Given the description of an element on the screen output the (x, y) to click on. 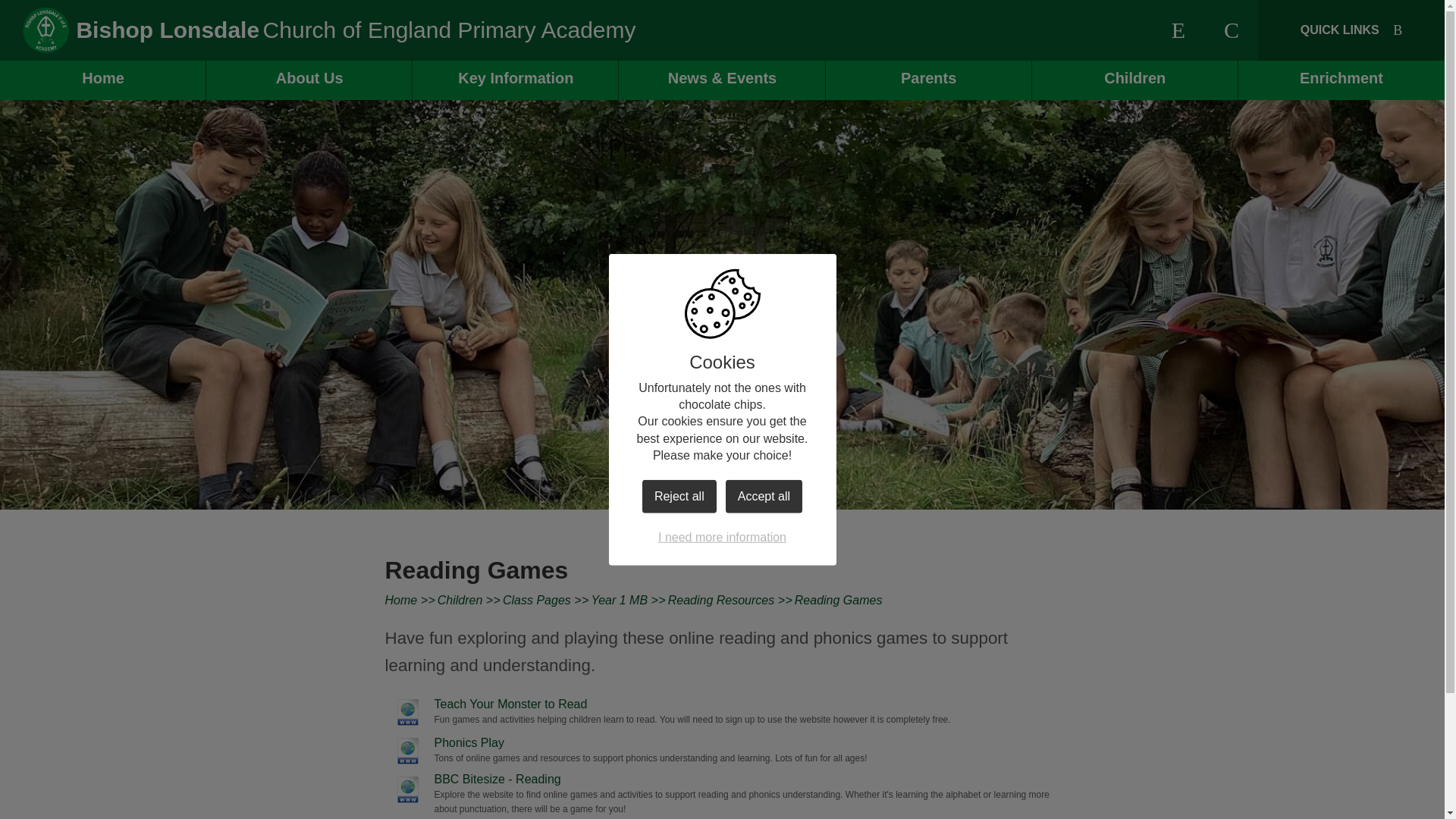
About Us (309, 79)
Home (103, 79)
Key Information (515, 79)
Home Page (45, 30)
